Given the description of an element on the screen output the (x, y) to click on. 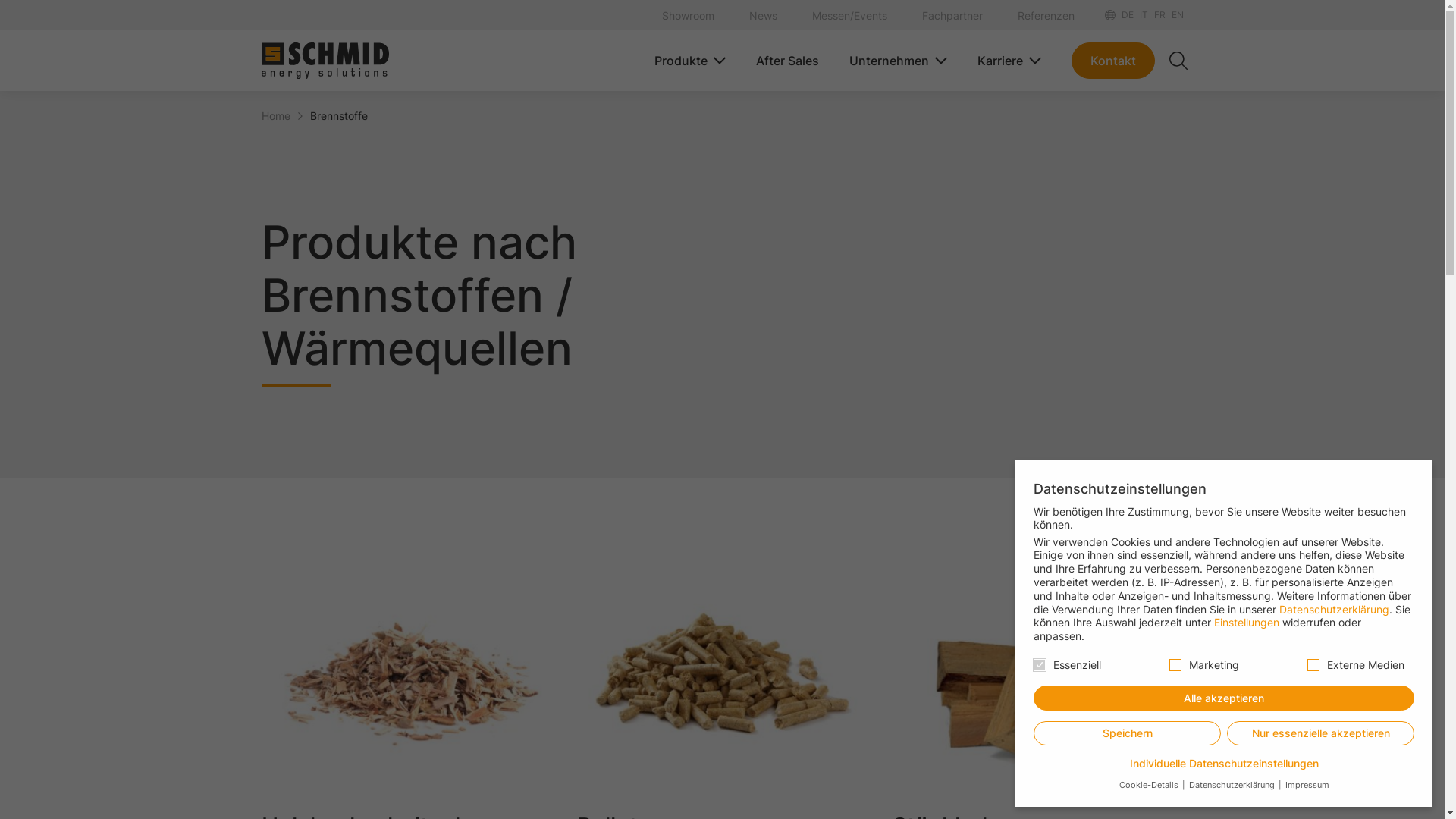
Suche umschalten Element type: hover (1177, 60)
Impressum Element type: text (1306, 785)
Showroom Element type: text (671, 15)
IT Element type: text (1143, 14)
Messen/Events Element type: text (833, 15)
Brennstoffe Element type: text (338, 115)
Einstellungen Element type: text (1246, 621)
Speichern Element type: text (1126, 733)
After Sales Element type: text (780, 60)
Fachpartner Element type: text (936, 15)
Kontakt Element type: text (1112, 60)
FR Element type: text (1159, 14)
News Element type: text (747, 15)
Zur Startseite Element type: hover (324, 60)
Nur essenzielle akzeptieren Element type: text (1320, 733)
Individuelle Datenschutzeinstellungen Element type: text (1223, 763)
EN Element type: text (1176, 14)
Cookie-Details Element type: text (1149, 785)
Alle akzeptieren Element type: text (1223, 697)
Referenzen Element type: text (1030, 15)
Home Element type: text (274, 115)
